Given the description of an element on the screen output the (x, y) to click on. 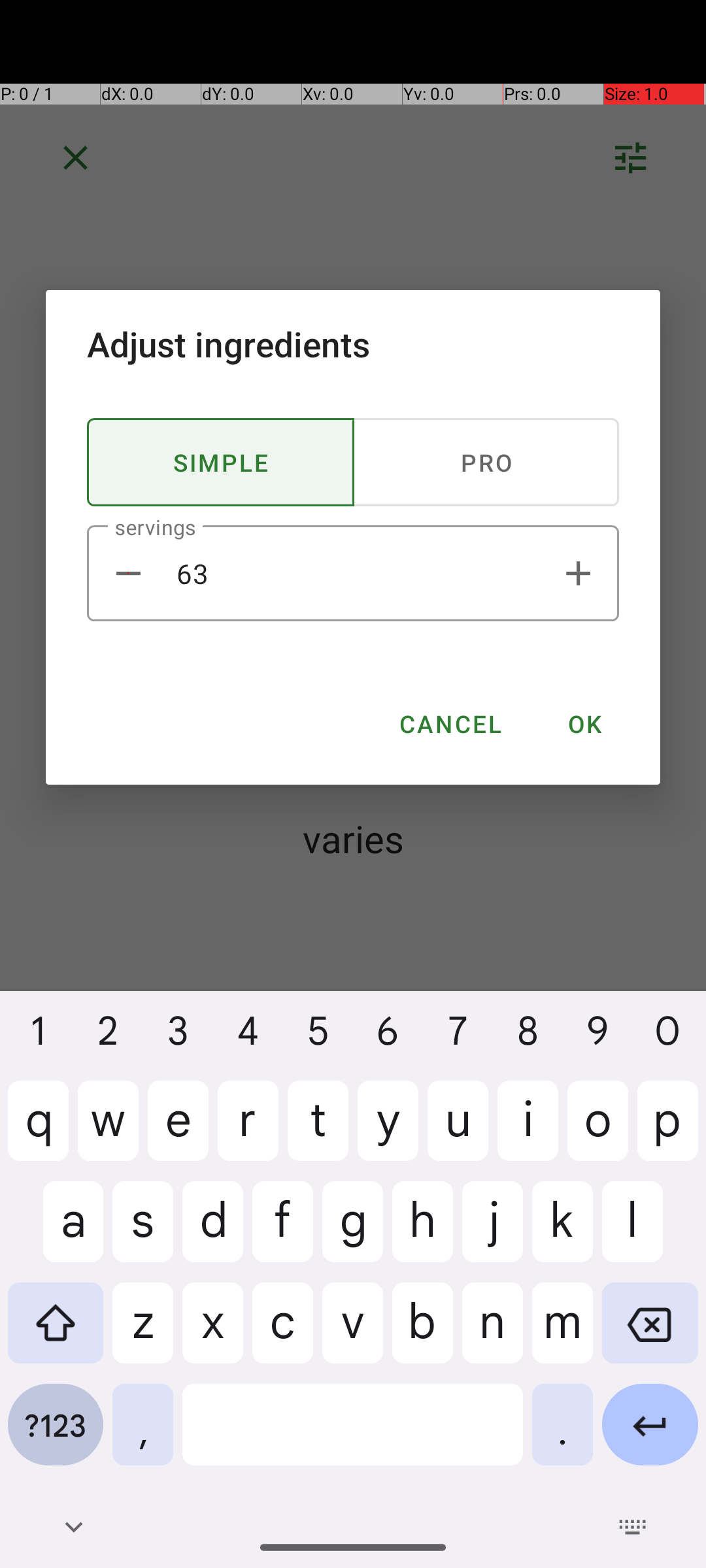
63 Element type: android.widget.EditText (352, 573)
